Given the description of an element on the screen output the (x, y) to click on. 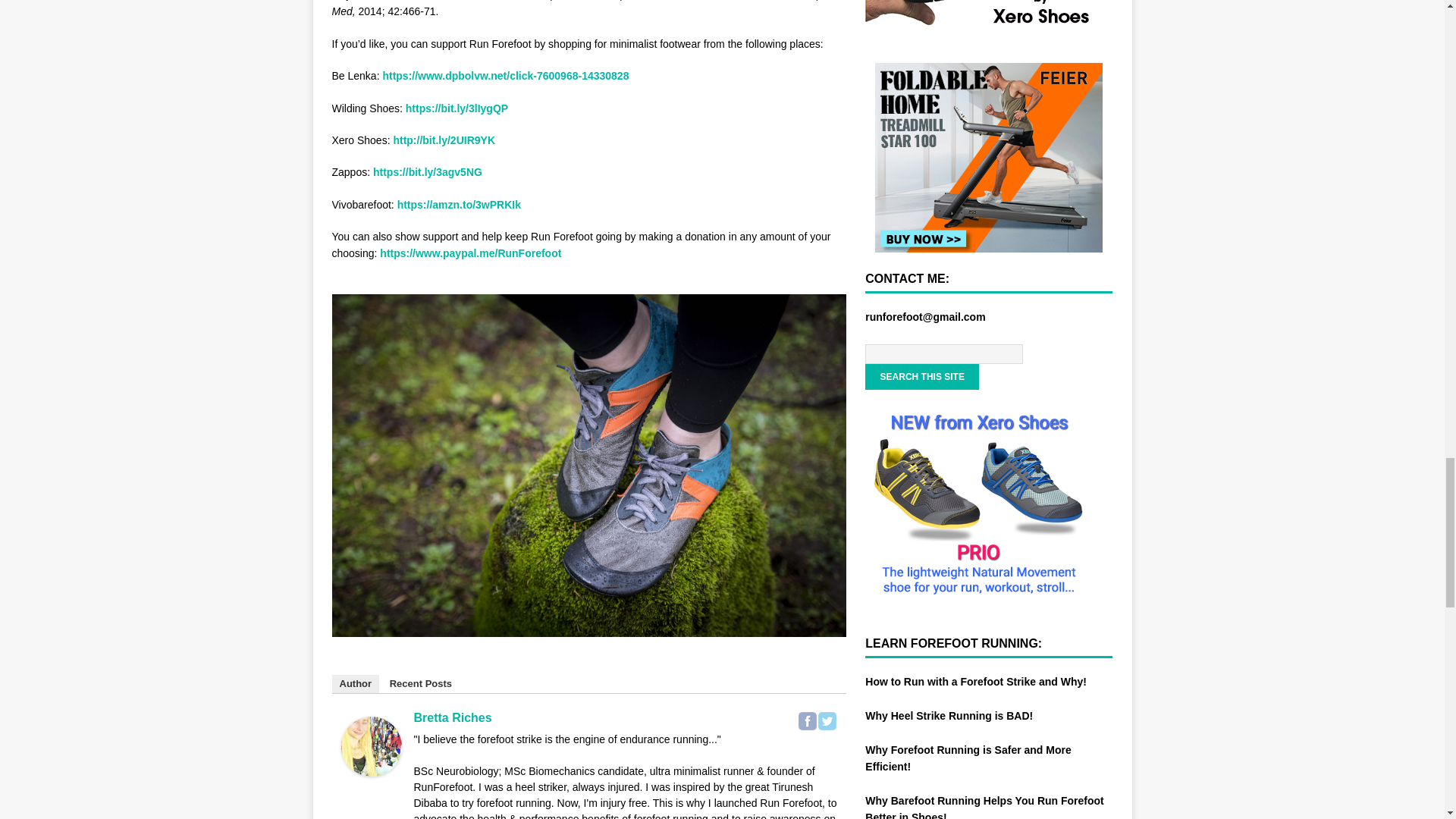
Search this Site (921, 376)
Bretta Riches (370, 767)
Facebook (806, 720)
Recent Posts (420, 683)
Author (355, 683)
Twitter (826, 720)
